Given the description of an element on the screen output the (x, y) to click on. 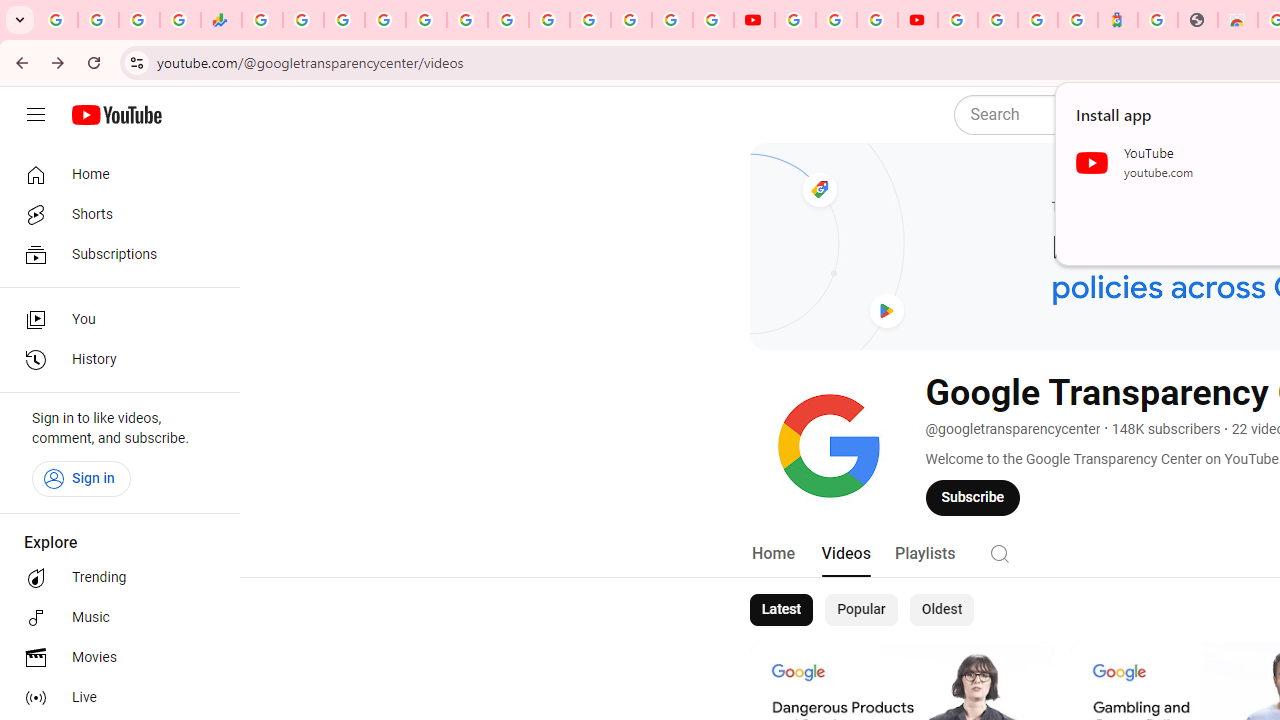
Subscriptions (113, 254)
YouTube Home (116, 115)
Sign in - Google Accounts (957, 20)
Sign in - Google Accounts (589, 20)
Shorts (113, 214)
Create your Google Account (877, 20)
Home (113, 174)
Sign in - Google Accounts (671, 20)
Trending (113, 578)
Movies (113, 657)
YouTube (795, 20)
Google Workspace Admin Community (57, 20)
